Given the description of an element on the screen output the (x, y) to click on. 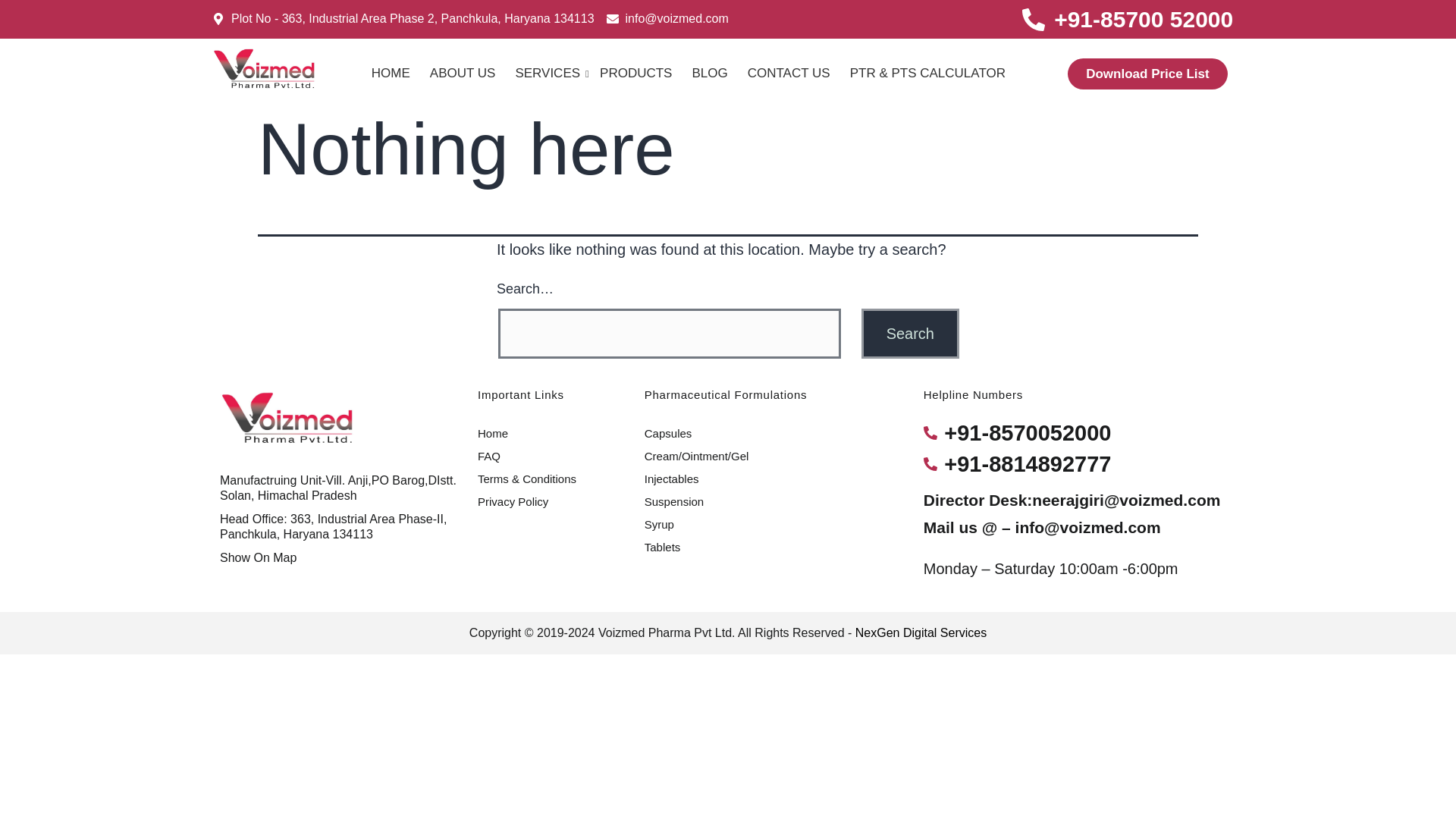
Tablets (663, 547)
Home (492, 433)
Search (910, 333)
HOME (390, 73)
ABOUT US (462, 73)
Download Price List (1147, 73)
Privacy Policy (512, 501)
Capsules (669, 433)
Search (910, 333)
BLOG (709, 73)
